Given the description of an element on the screen output the (x, y) to click on. 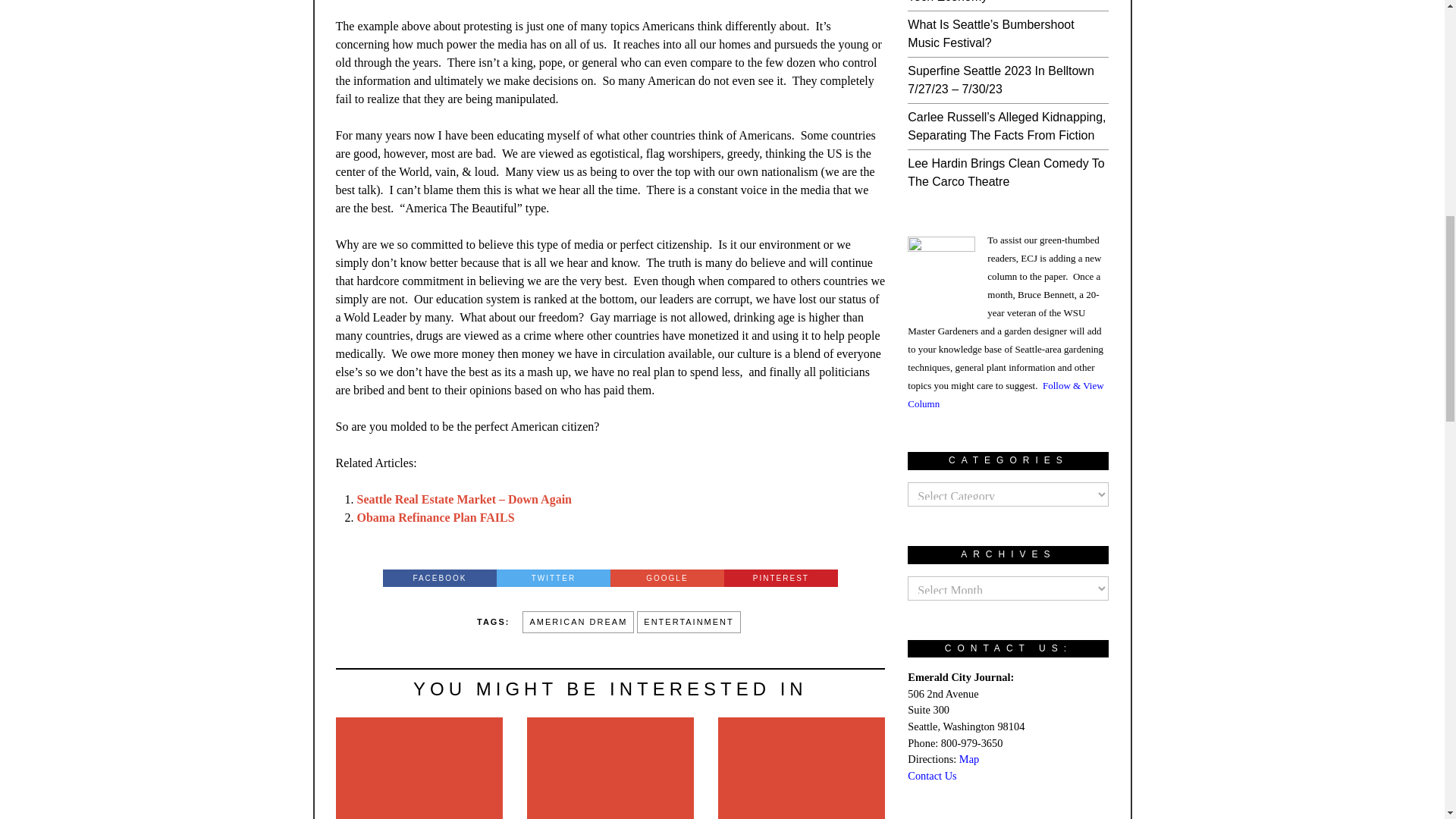
Obama Refinance Plan FAILS (434, 517)
Obama Refinance Plan FAILS (434, 517)
Twitter (553, 578)
TWITTER (553, 578)
AMERICAN DREAM (577, 621)
ENTERTAINMENT (689, 621)
FACEBOOK (439, 578)
Facebook (439, 578)
GOOGLE (666, 578)
PINTEREST (780, 578)
